Given the description of an element on the screen output the (x, y) to click on. 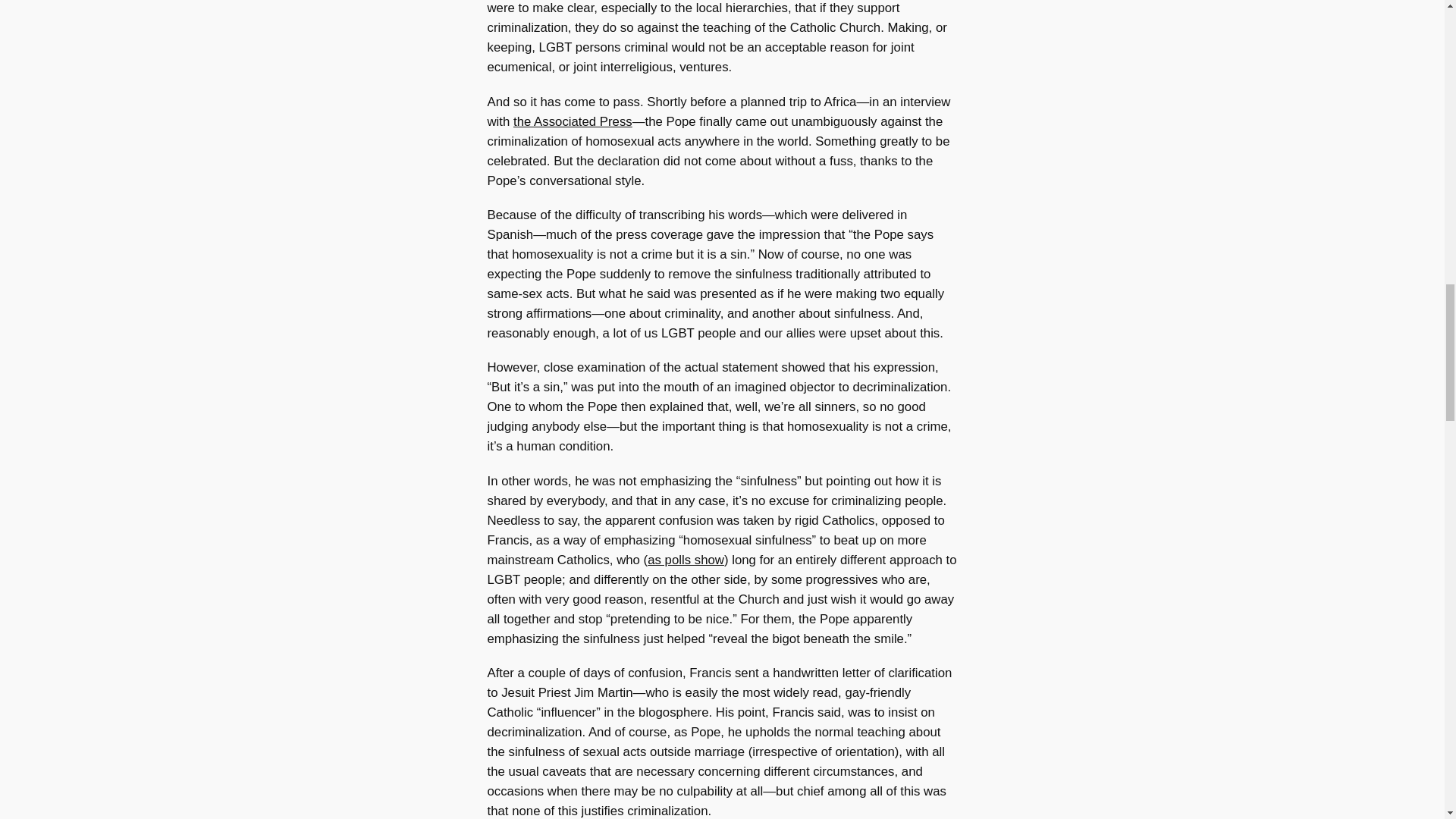
the Associated Press (572, 121)
as polls show (685, 559)
